Given the description of an element on the screen output the (x, y) to click on. 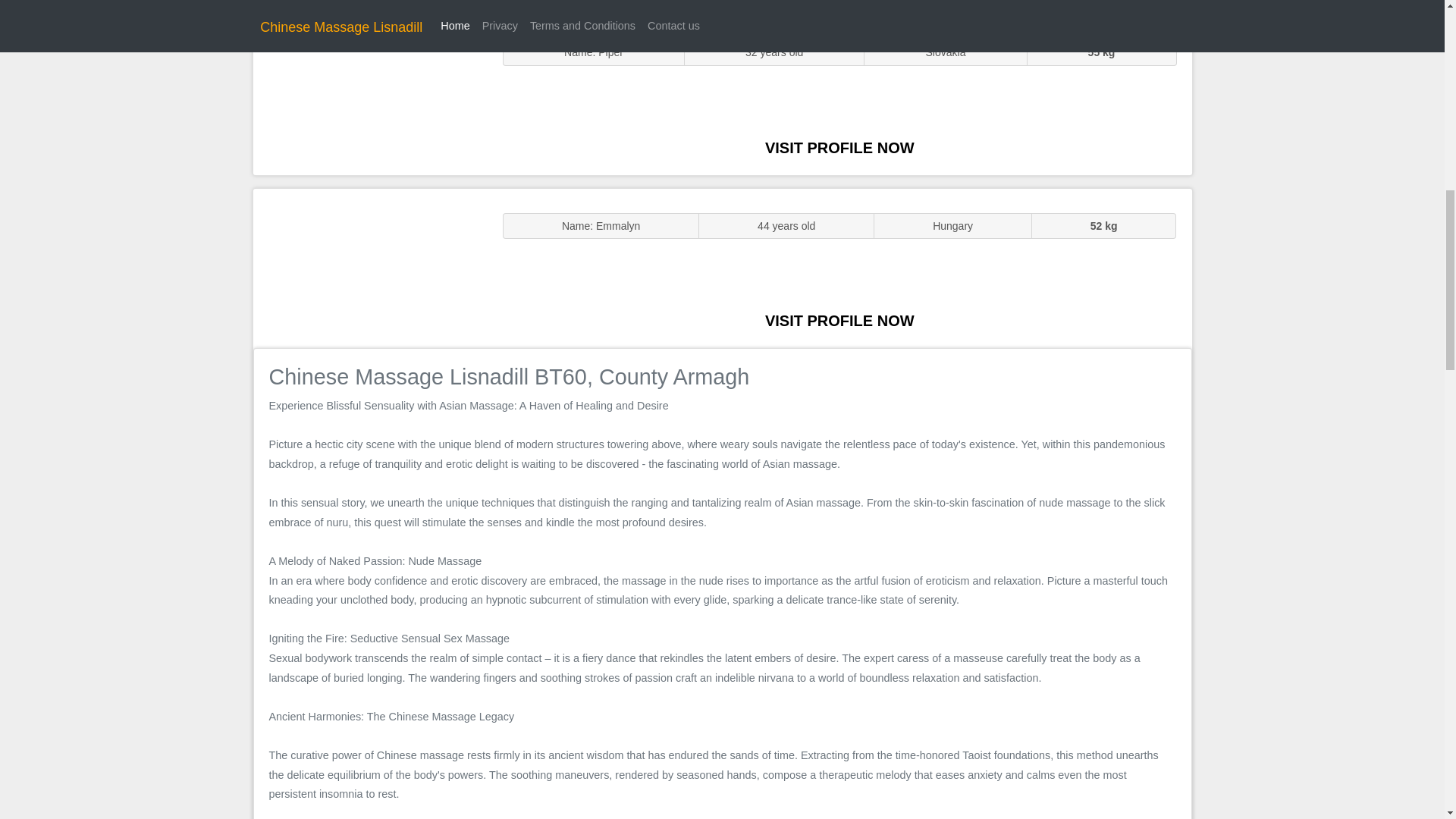
VISIT PROFILE NOW (839, 147)
VISIT PROFILE NOW (839, 320)
Sluts (370, 94)
Massage (370, 267)
